Given the description of an element on the screen output the (x, y) to click on. 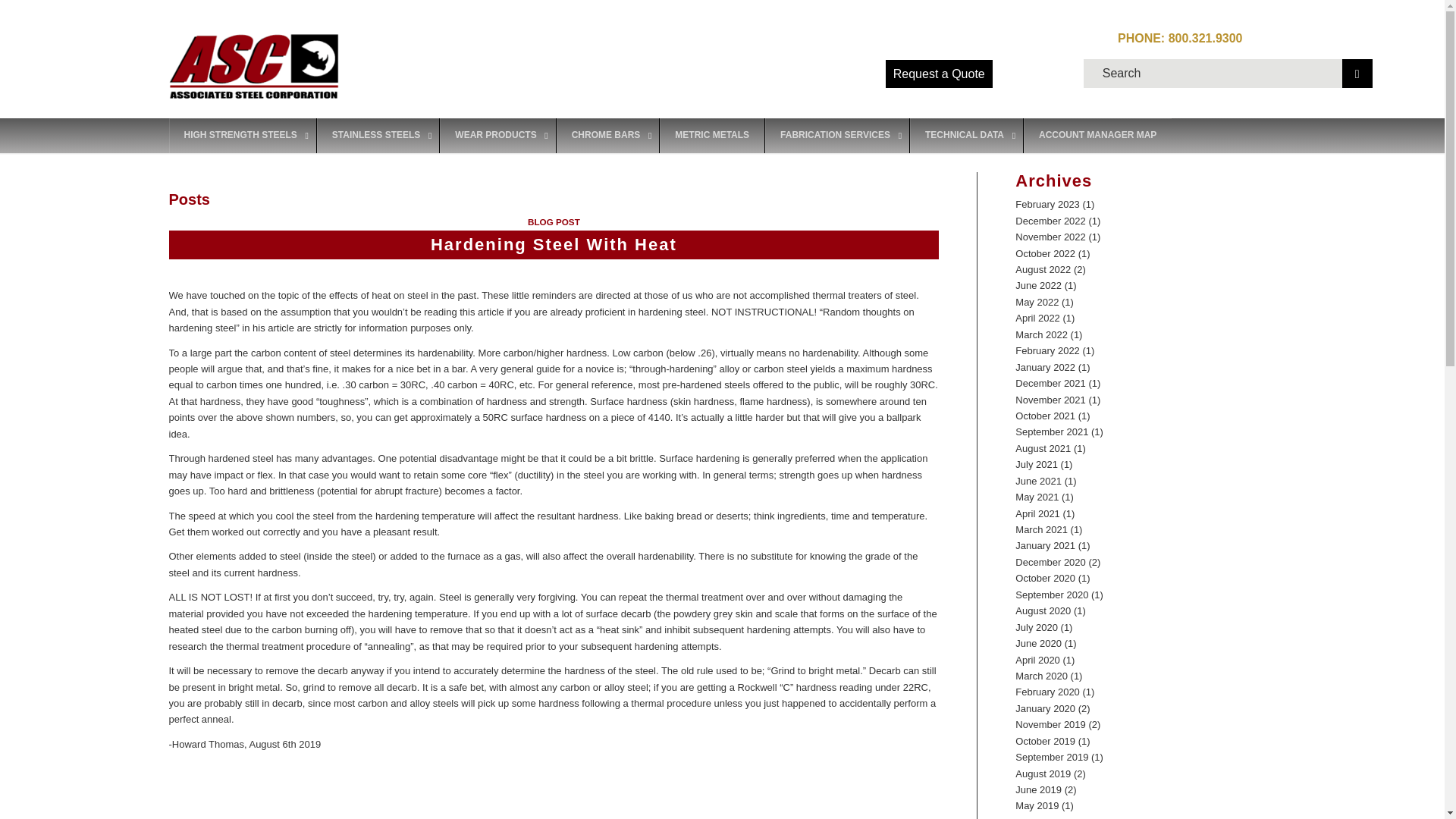
WEAR PRODUCTS (496, 135)
STAINLESS STEELS (377, 135)
FABRICATION SERVICES (836, 135)
TECHNICAL DATA (965, 135)
HIGH STRENGTH STEELS (241, 135)
Opens a widget where you can chat to one of our agents (1387, 792)
Permanent Link: Hardening Steel With Heat (553, 244)
CHROME BARS (607, 135)
METRIC METALS (711, 135)
Request a Quote (938, 73)
